Given the description of an element on the screen output the (x, y) to click on. 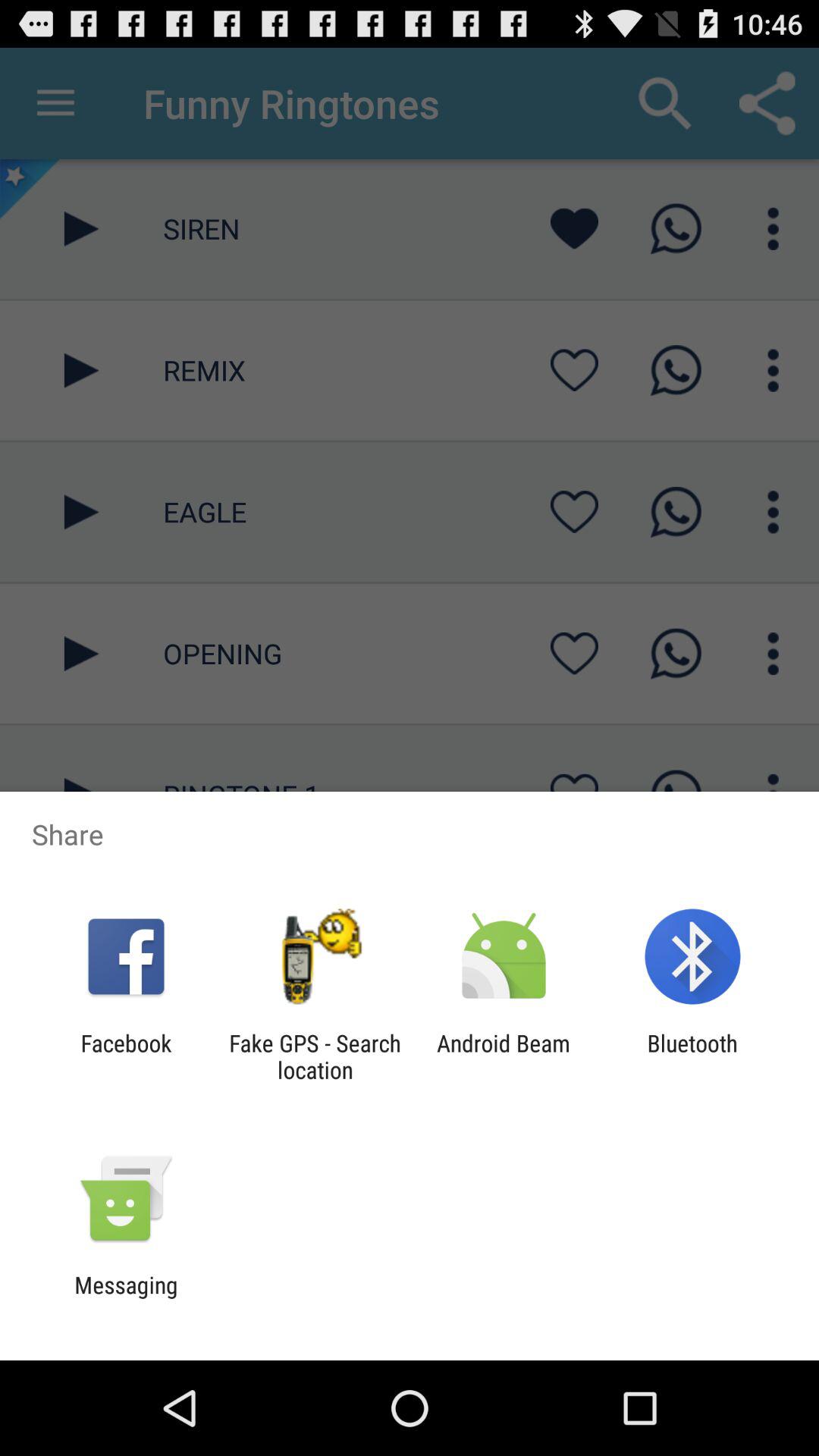
select the item to the right of fake gps search (503, 1056)
